Given the description of an element on the screen output the (x, y) to click on. 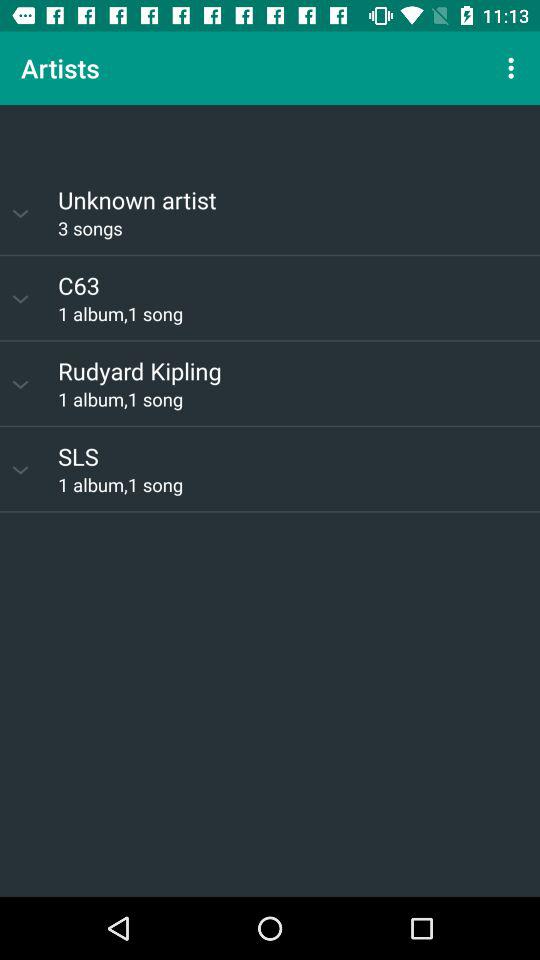
choose the item next to artists icon (513, 67)
